Given the description of an element on the screen output the (x, y) to click on. 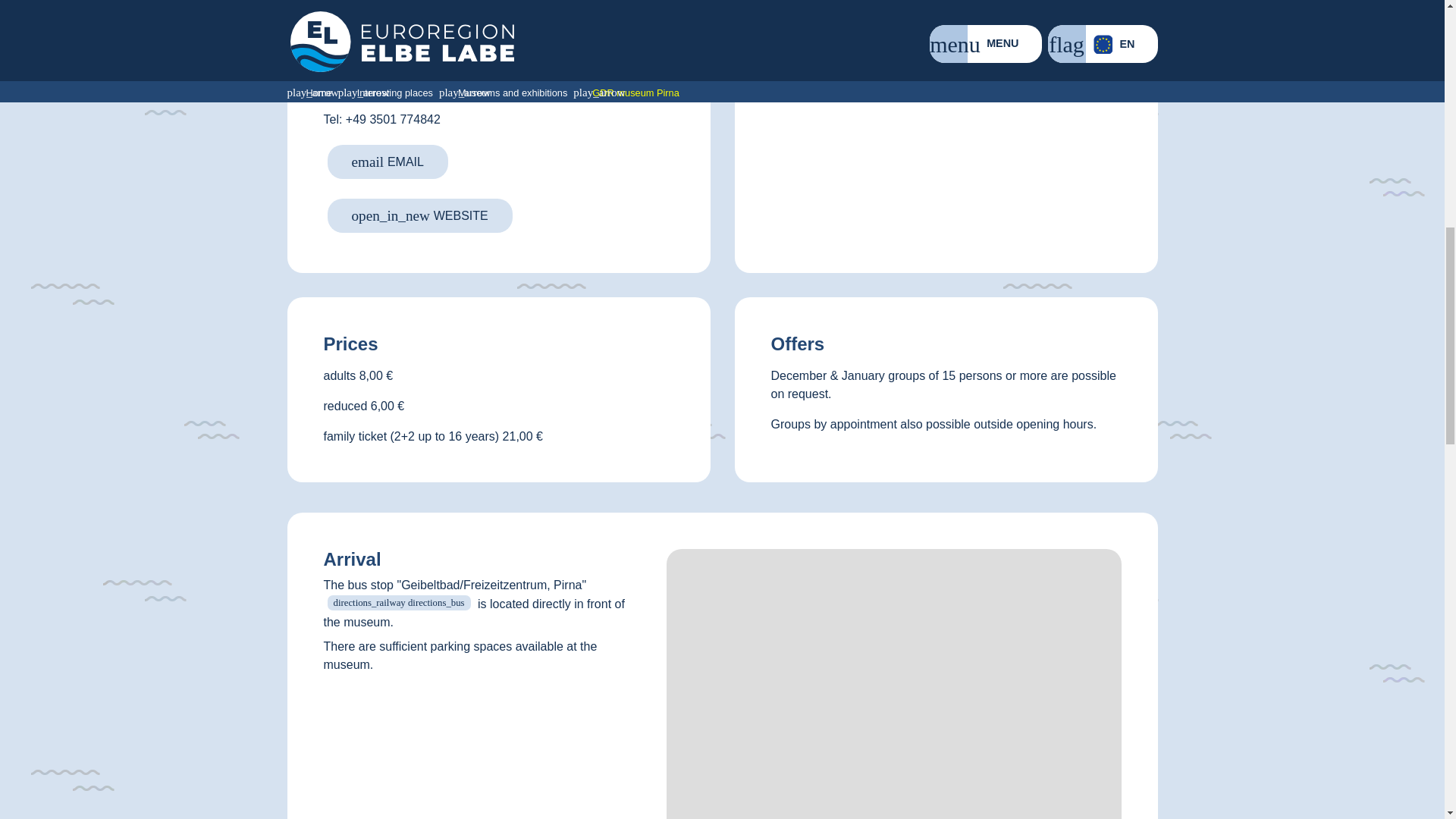
Find connection (398, 602)
